Given the description of an element on the screen output the (x, y) to click on. 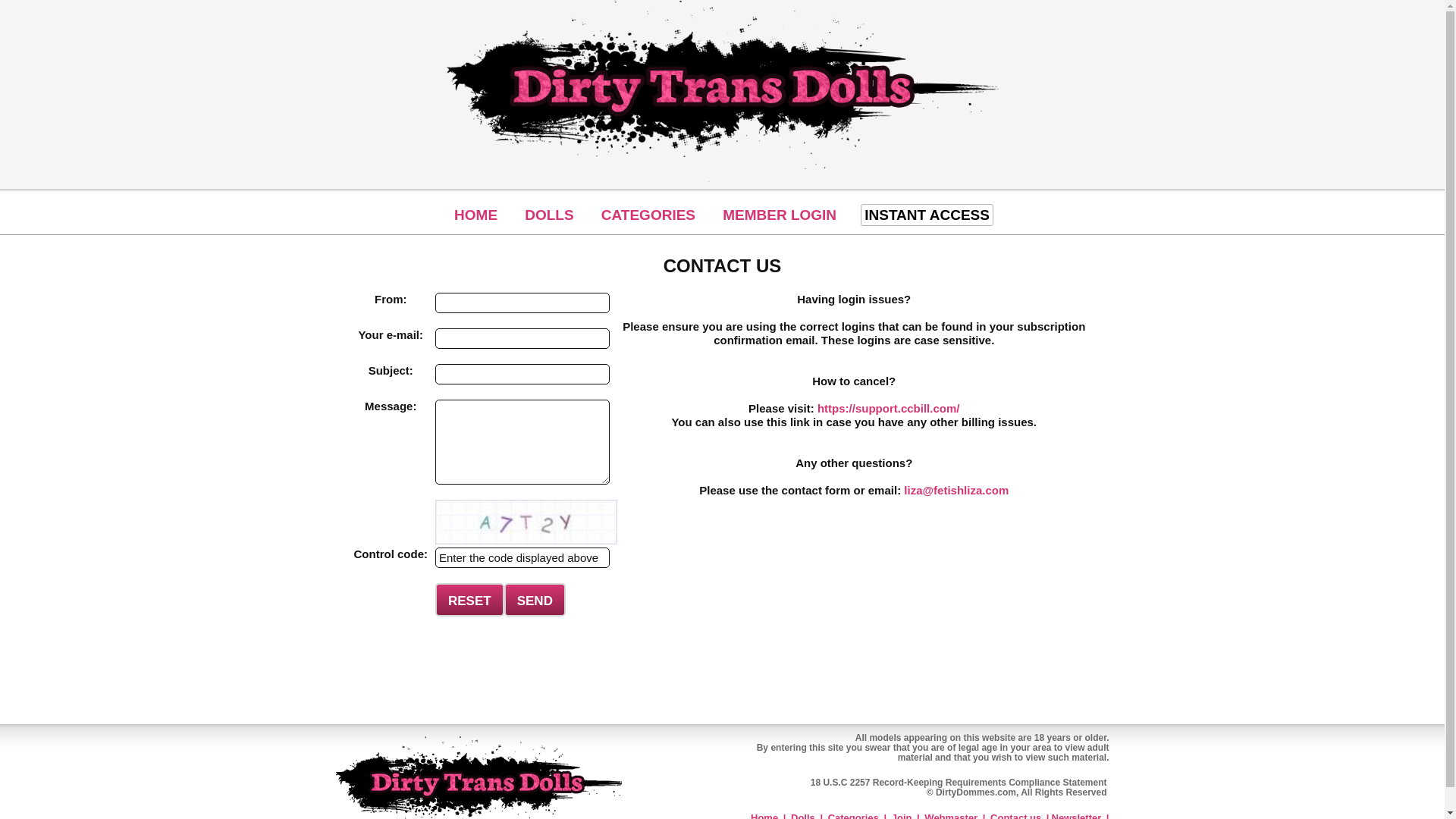
Enter the code displayed above (522, 557)
Contact us (1015, 815)
Reset (469, 599)
Home (764, 815)
Join (901, 815)
Send (534, 599)
INSTANT ACCESS (926, 214)
Webmaster (950, 815)
DOLLS (548, 214)
